Given the description of an element on the screen output the (x, y) to click on. 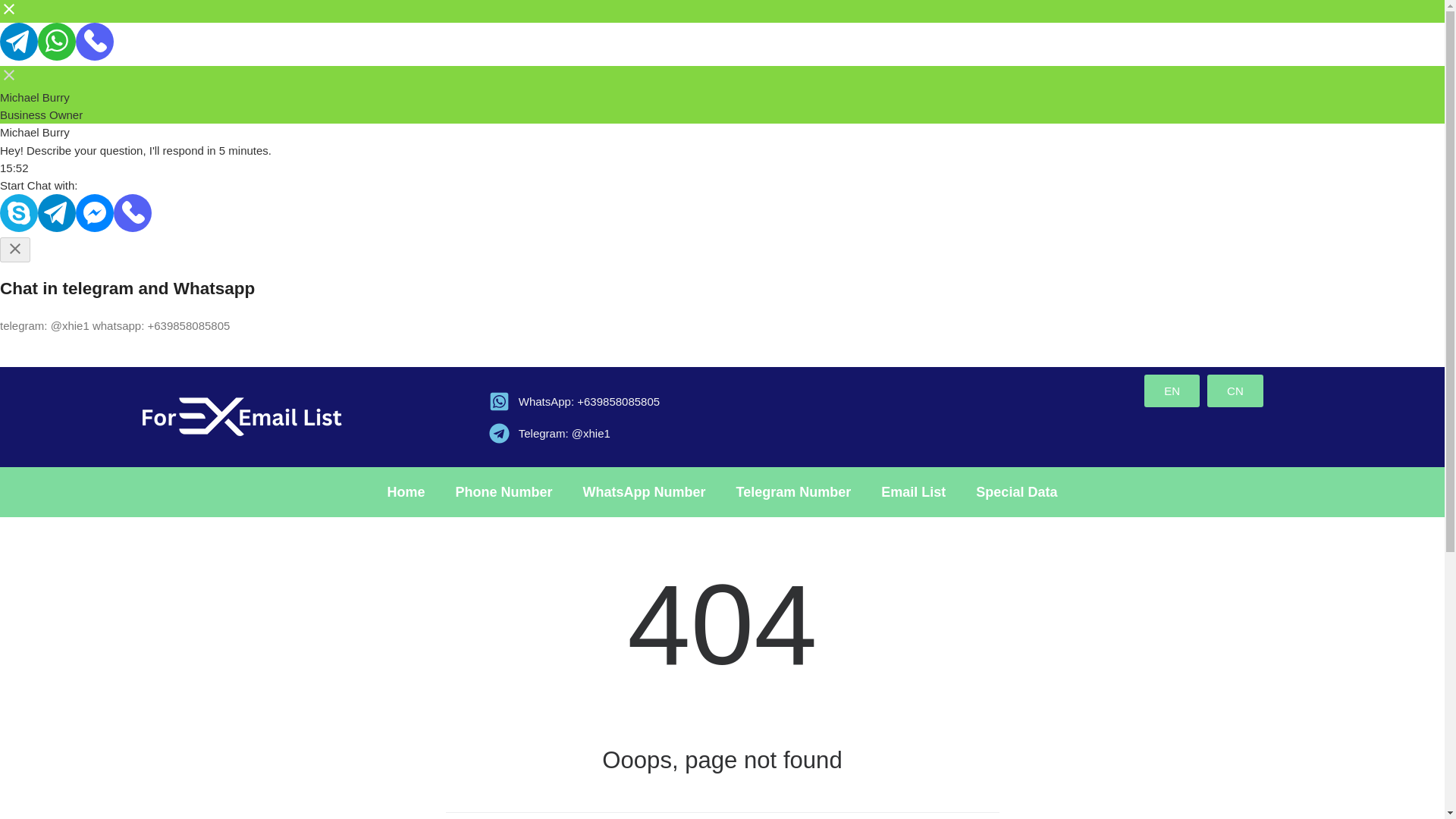
WhatsApp Number (643, 492)
Phone Number (504, 492)
Telegram Number (793, 492)
Home (406, 492)
Special Data (1015, 492)
Email List (913, 492)
CN (1235, 390)
EN (1171, 390)
